Given the description of an element on the screen output the (x, y) to click on. 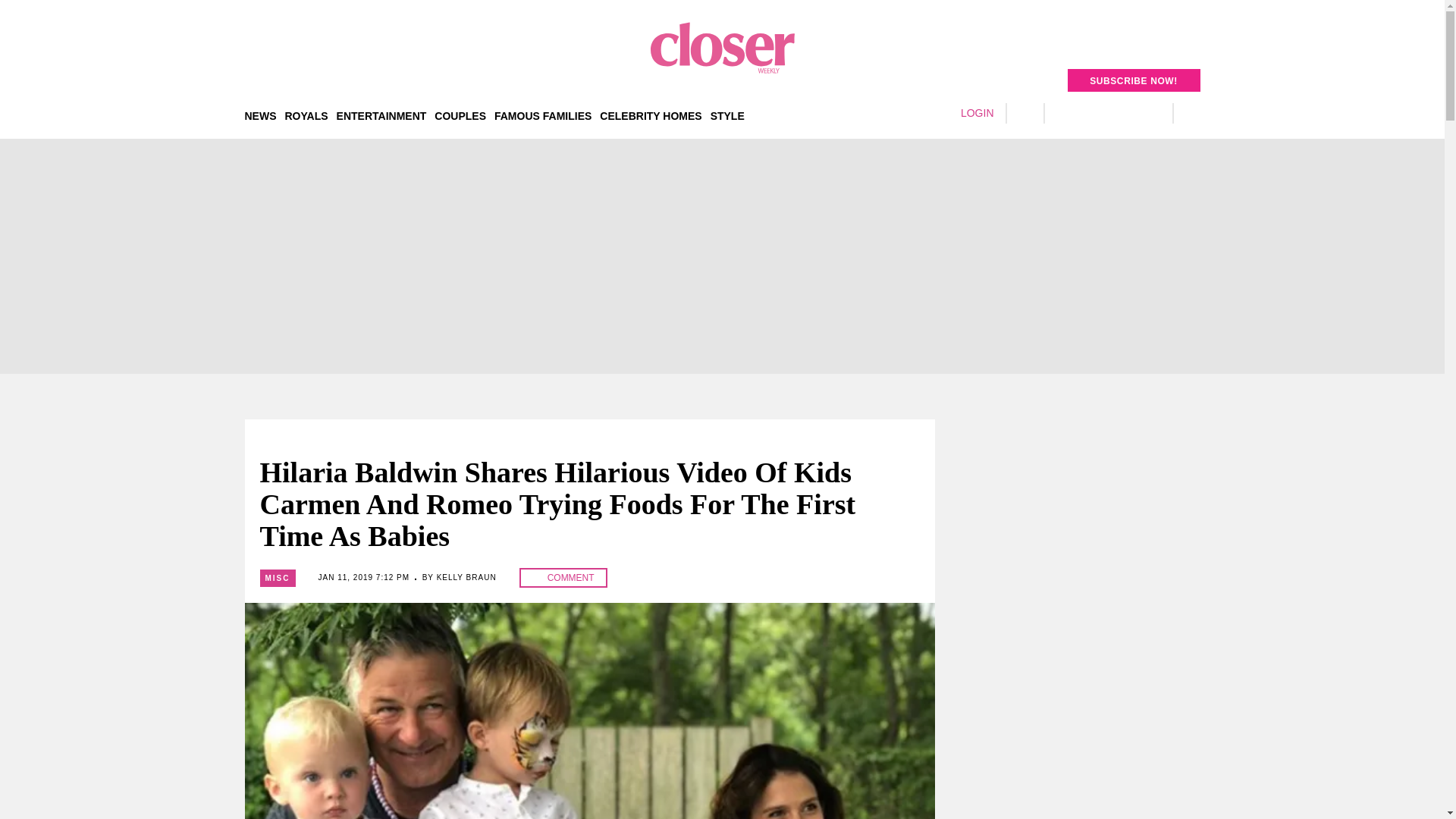
NEWS (260, 115)
Posts by Kelly Braun (466, 577)
ENTERTAINMENT (381, 115)
ROYALS (307, 115)
